Given the description of an element on the screen output the (x, y) to click on. 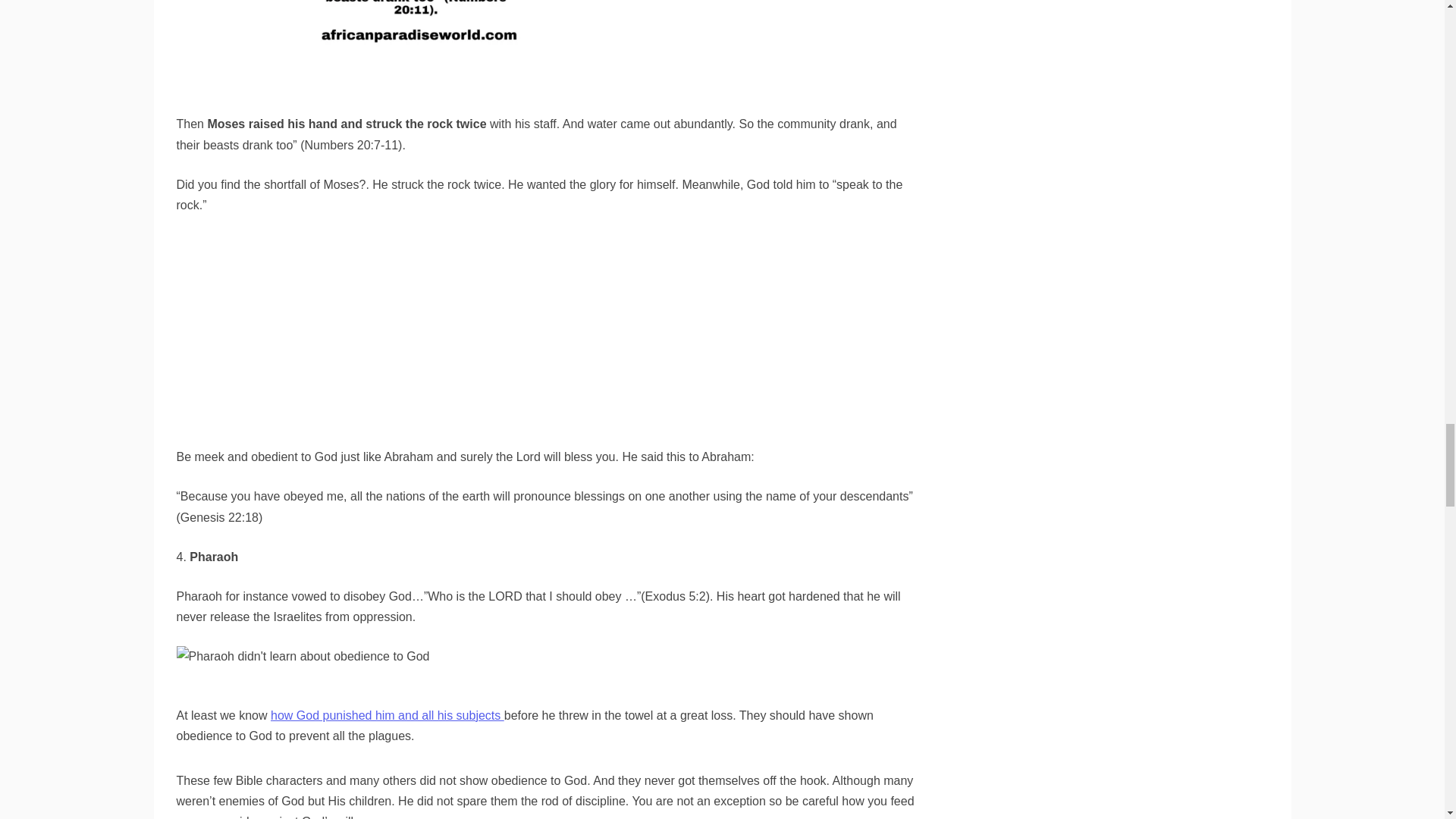
how God punished him and all his subjects (386, 715)
